Given the description of an element on the screen output the (x, y) to click on. 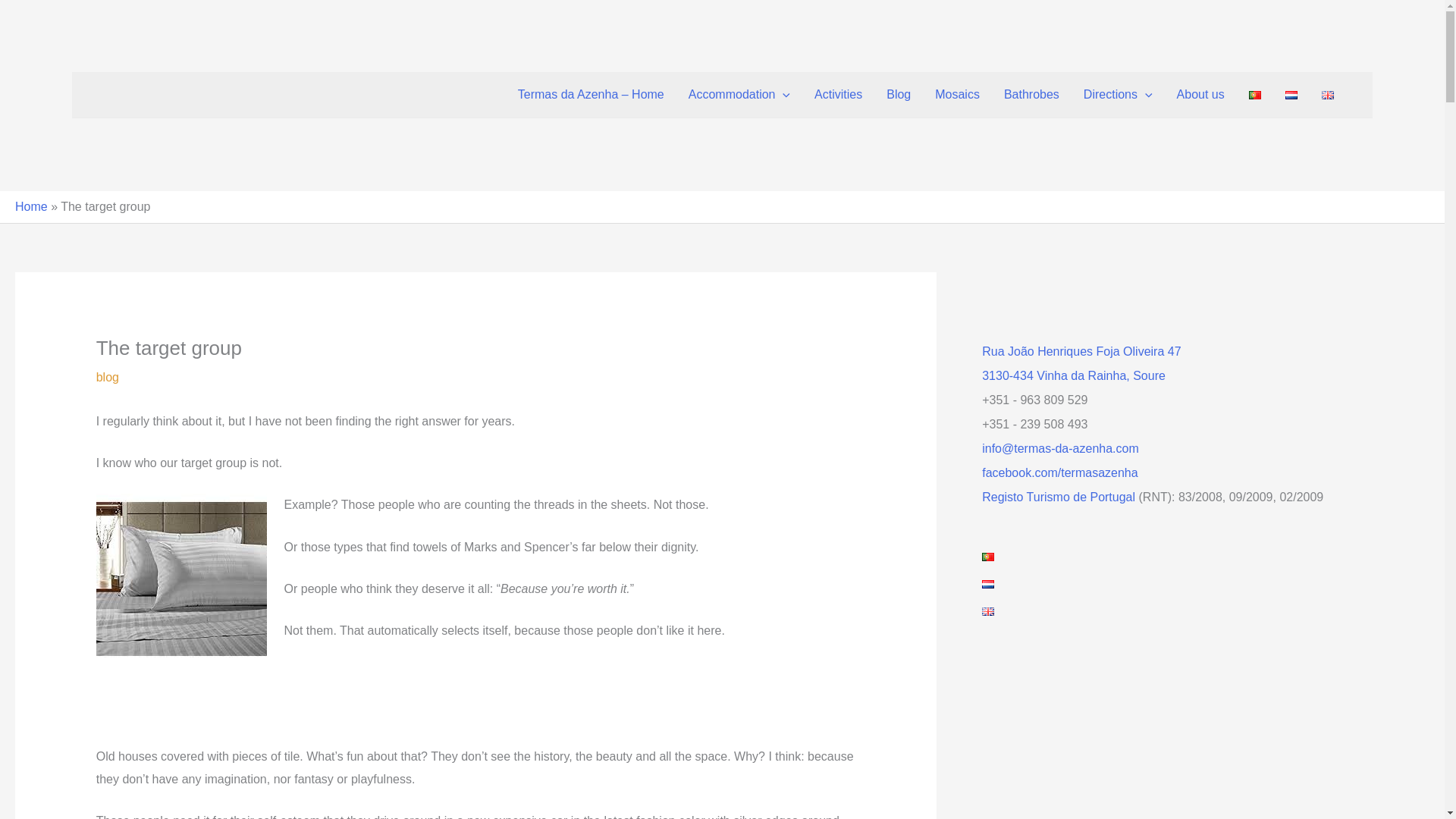
About us (1200, 94)
Blog (899, 94)
Bathrobes (1031, 94)
Mosaics (957, 94)
Directions (1117, 94)
Activities (838, 94)
Accommodation (739, 94)
